Given the description of an element on the screen output the (x, y) to click on. 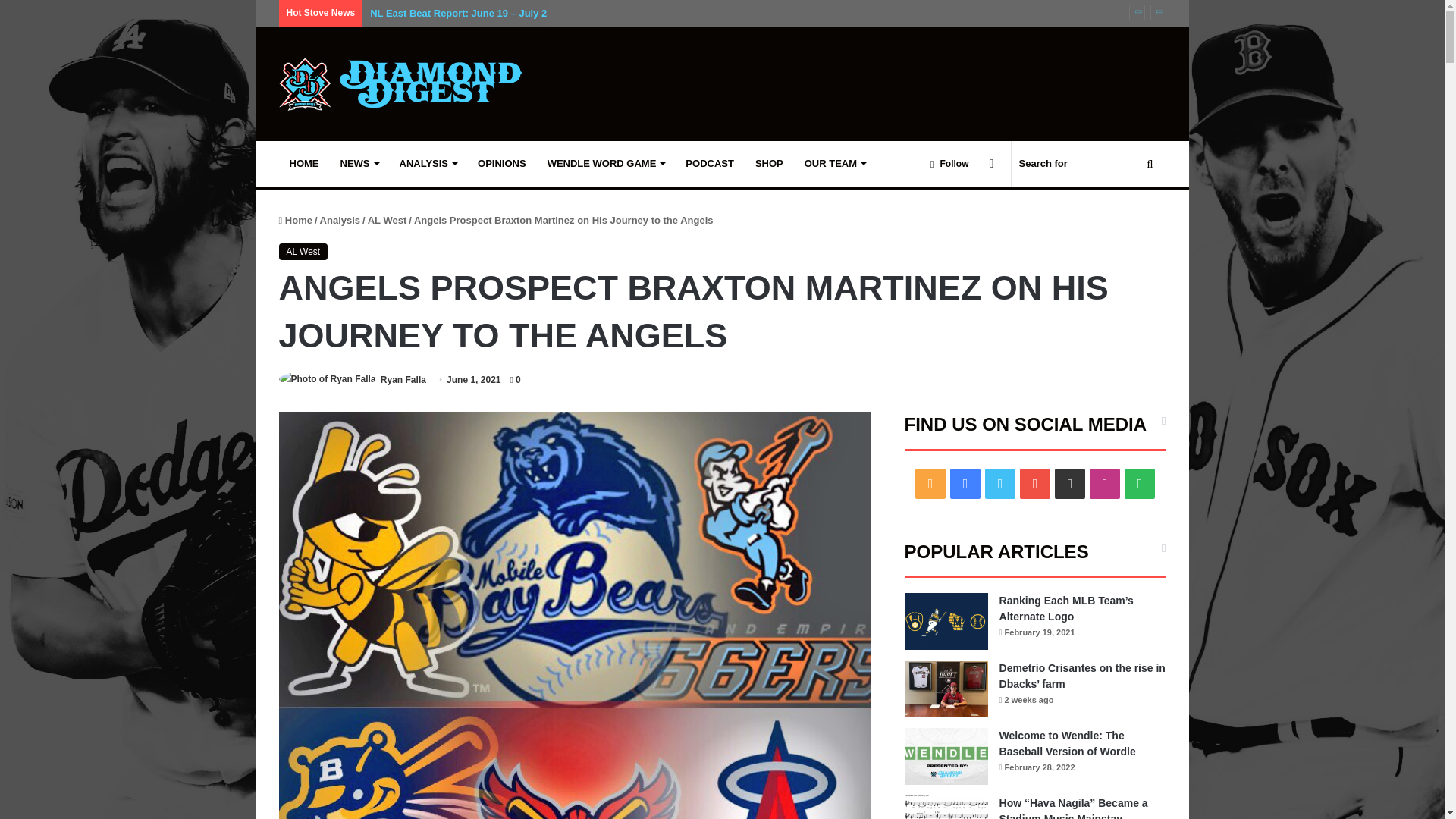
Follow (948, 163)
PODCAST (709, 163)
Diamond Digest (400, 83)
ANALYSIS (427, 163)
SHOP (768, 163)
NEWS (358, 163)
OPINIONS (502, 163)
HOME (304, 163)
Ryan Falla (403, 379)
Search for (1088, 163)
WENDLE WORD GAME (606, 163)
OUR TEAM (834, 163)
